Given the description of an element on the screen output the (x, y) to click on. 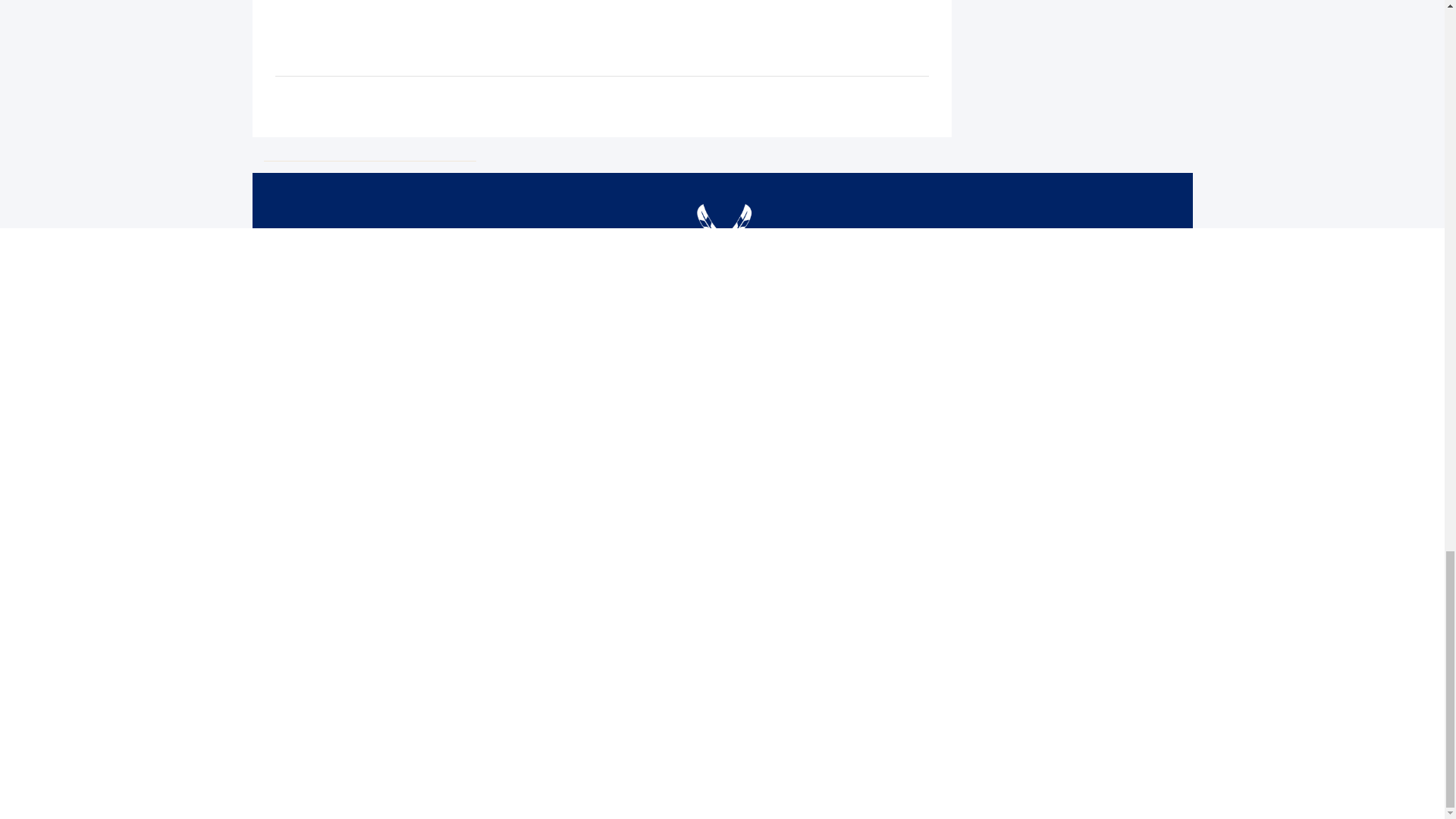
Eastern Mirror (721, 266)
